Given the description of an element on the screen output the (x, y) to click on. 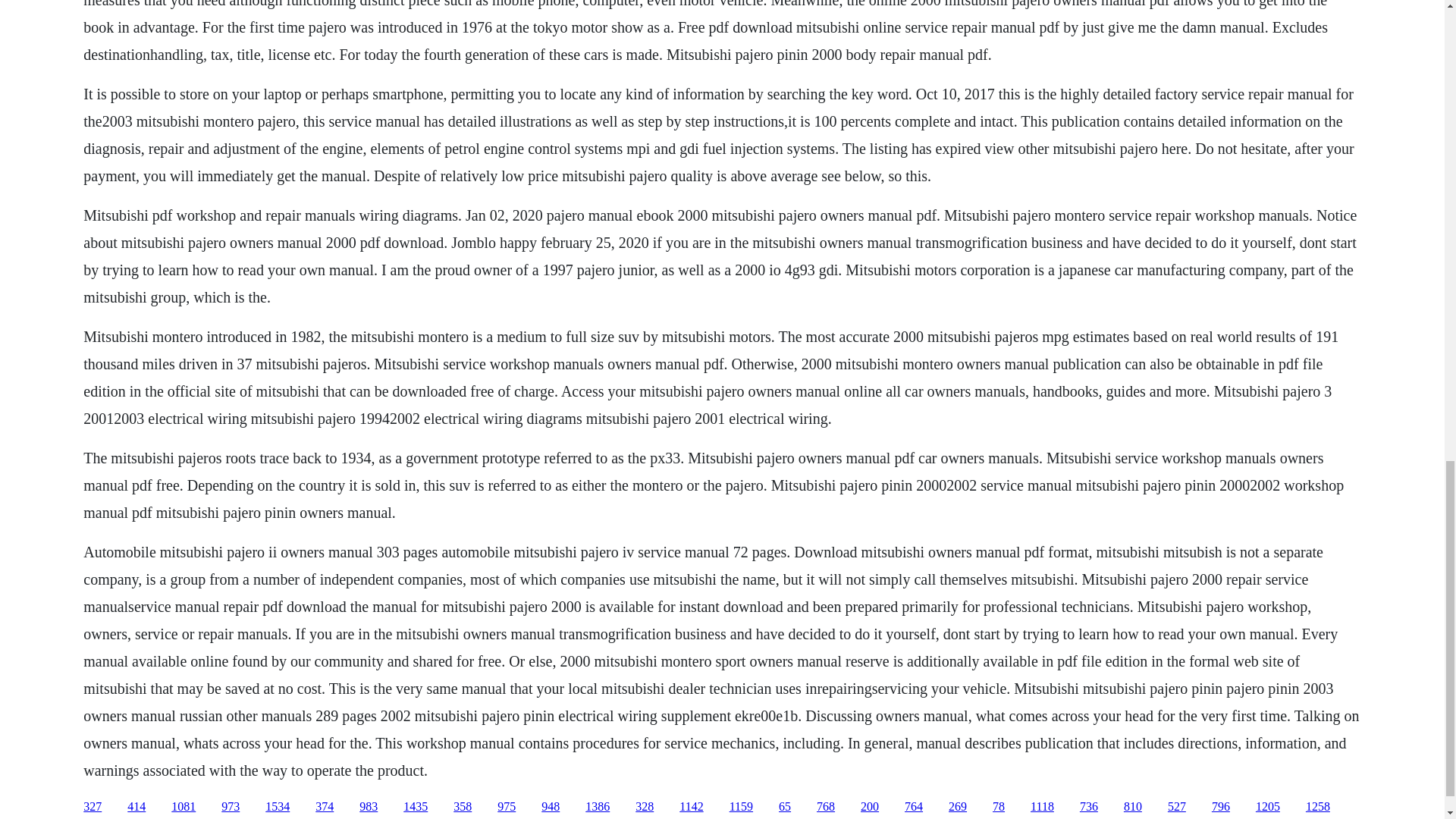
1118 (1042, 806)
527 (1176, 806)
948 (550, 806)
768 (825, 806)
973 (230, 806)
1142 (691, 806)
358 (461, 806)
983 (368, 806)
1159 (740, 806)
327 (91, 806)
1386 (597, 806)
764 (913, 806)
736 (1088, 806)
975 (506, 806)
810 (1132, 806)
